Given the description of an element on the screen output the (x, y) to click on. 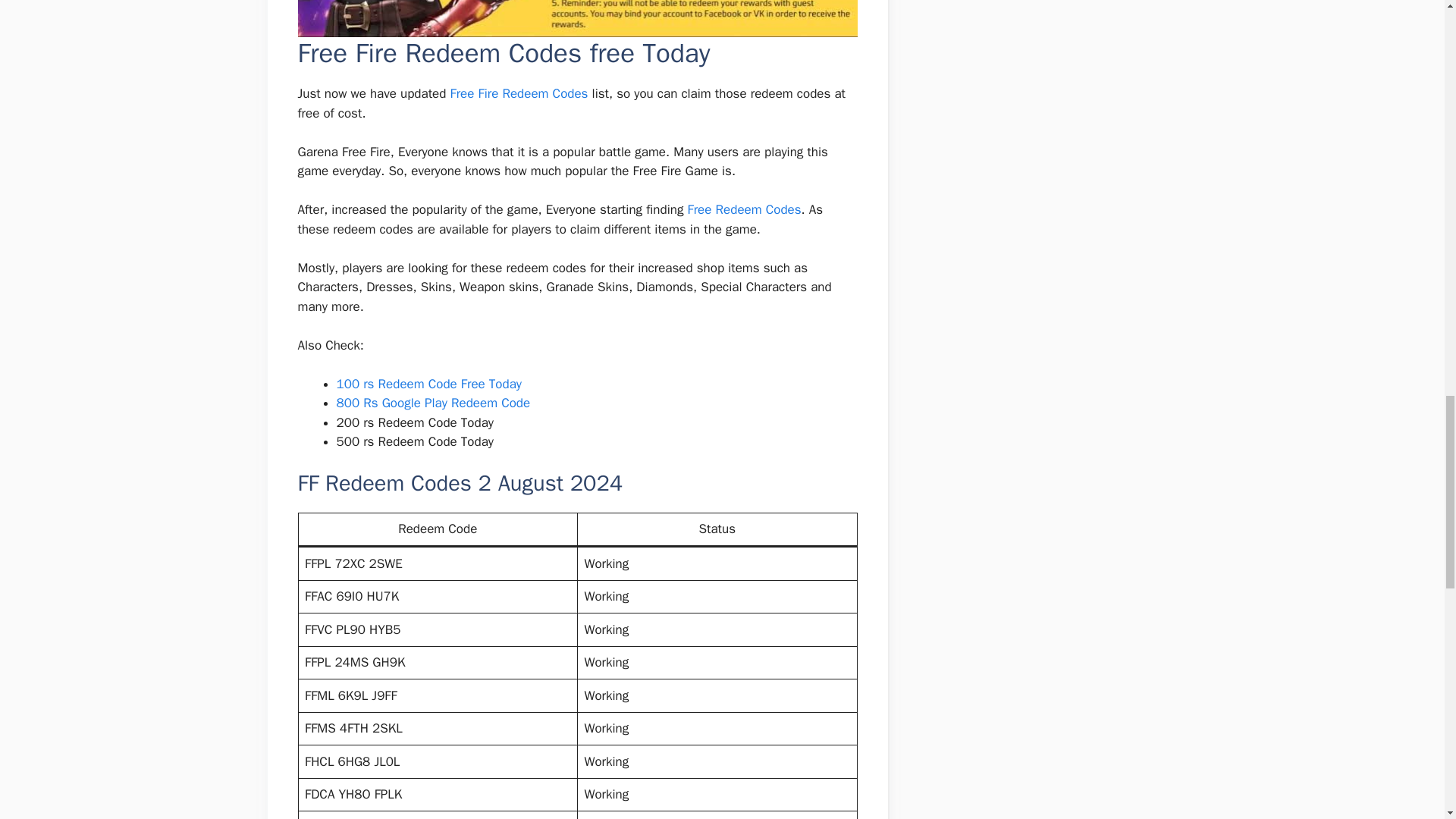
Free Redeem Codes (744, 209)
800 Rs Google Play Redeem Code (433, 402)
Free Fire Redeem Codes (518, 93)
100 rs Redeem Code Free Today (429, 383)
